Given the description of an element on the screen output the (x, y) to click on. 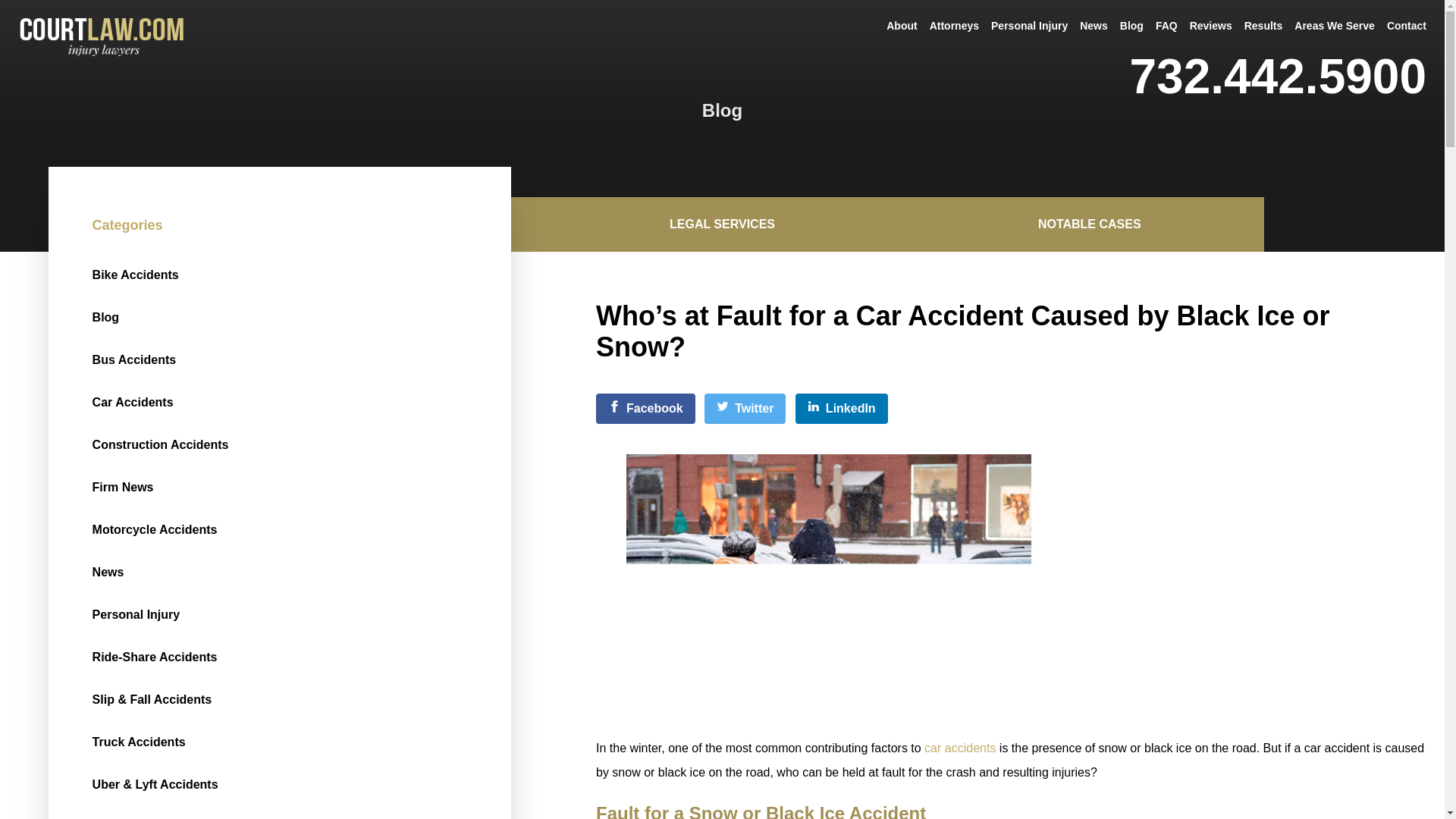
Personal Injury (1029, 26)
News (1093, 26)
Attorneys (954, 26)
About (901, 26)
